Given the description of an element on the screen output the (x, y) to click on. 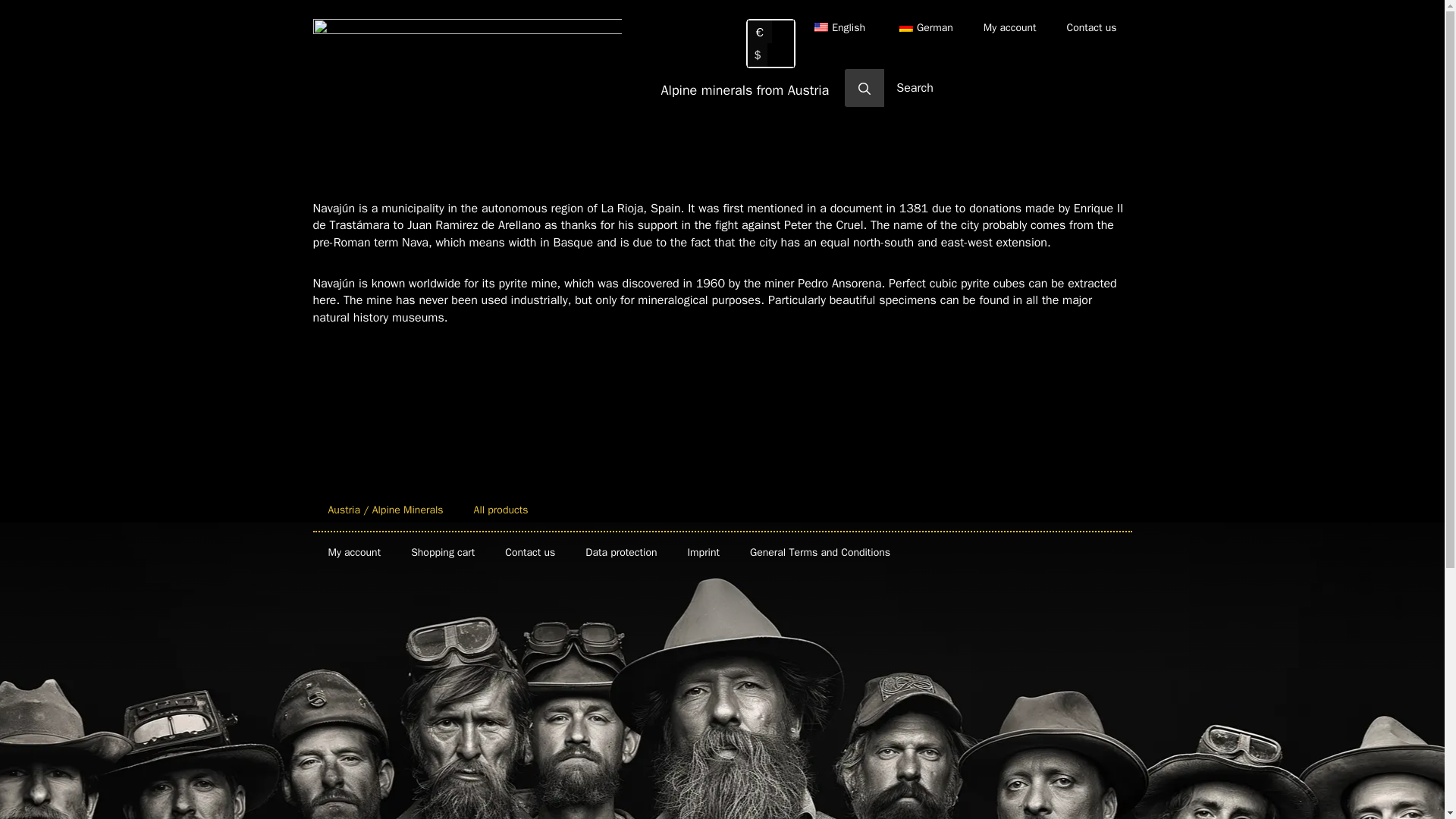
English (820, 26)
Contact us (1091, 31)
My account (354, 552)
Imprint (703, 552)
Alpine minerals from Austria (745, 89)
German (924, 31)
My account (1009, 31)
German (905, 26)
English (837, 31)
Data protection (620, 552)
Contact us (529, 552)
All products (500, 509)
Shopping cart (442, 552)
General Terms and Conditions (820, 552)
